Given the description of an element on the screen output the (x, y) to click on. 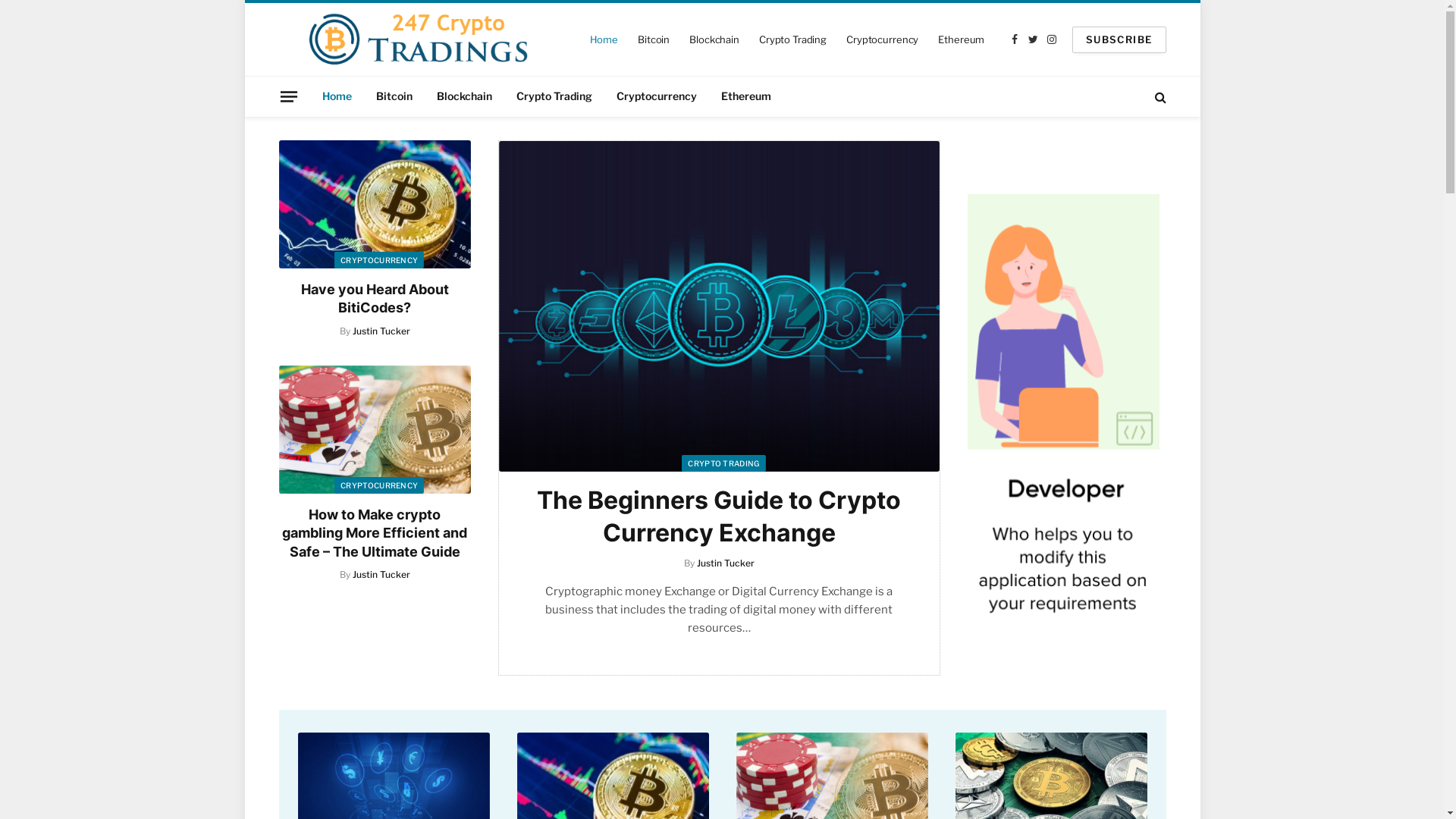
Bitcoin Element type: text (653, 39)
Home Element type: text (603, 39)
Search Element type: hover (1158, 96)
Twitter Element type: text (1032, 39)
The Beginners Guide to Crypto Currency Exchange Element type: hover (718, 306)
CRYPTOCURRENCY Element type: text (378, 259)
Blockchain Element type: text (714, 39)
Crypto Trading Element type: text (553, 96)
Justin Tucker Element type: text (381, 574)
Justin Tucker Element type: text (725, 562)
SUBSCRIBE Element type: text (1119, 38)
Blockchain Element type: text (464, 96)
Cryptocurrency Element type: text (882, 39)
Home Element type: text (336, 96)
The Beginners Guide to Crypto Currency Exchange Element type: text (718, 516)
CRYPTOCURRENCY Element type: text (378, 484)
Ethereum Element type: text (745, 96)
Cryptocurrency Element type: text (655, 96)
Justin Tucker Element type: text (381, 330)
CRYPTO TRADING Element type: text (723, 463)
Have you Heard About BitiCodes? Element type: text (374, 298)
Ethereum Element type: text (961, 39)
Have you Heard About BitiCodes? Element type: hover (374, 204)
Instagram Element type: text (1051, 39)
Bitcoin Element type: text (394, 96)
Facebook Element type: text (1013, 39)
Crypto Trading Element type: text (792, 39)
